Given the description of an element on the screen output the (x, y) to click on. 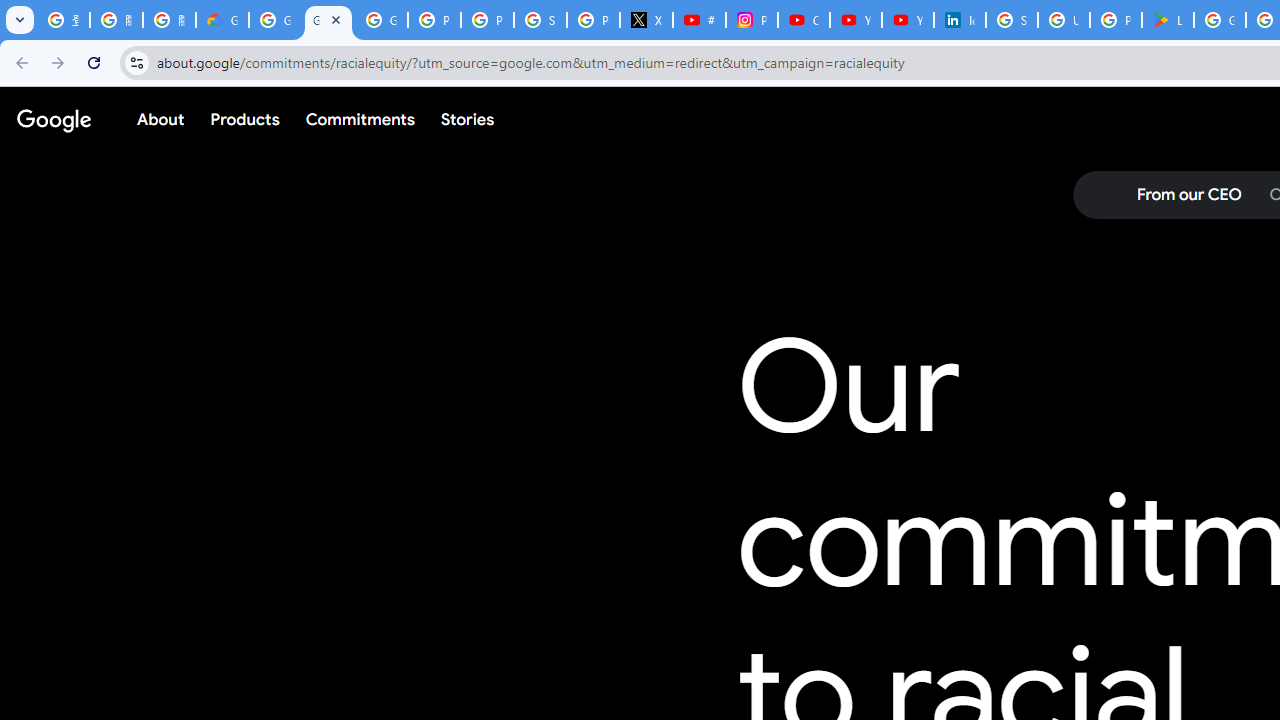
Google (54, 119)
About (161, 119)
Commitments (359, 119)
X (646, 20)
Products (245, 119)
Privacy Help Center - Policies Help (487, 20)
Last Shelter: Survival - Apps on Google Play (1167, 20)
